Given the description of an element on the screen output the (x, y) to click on. 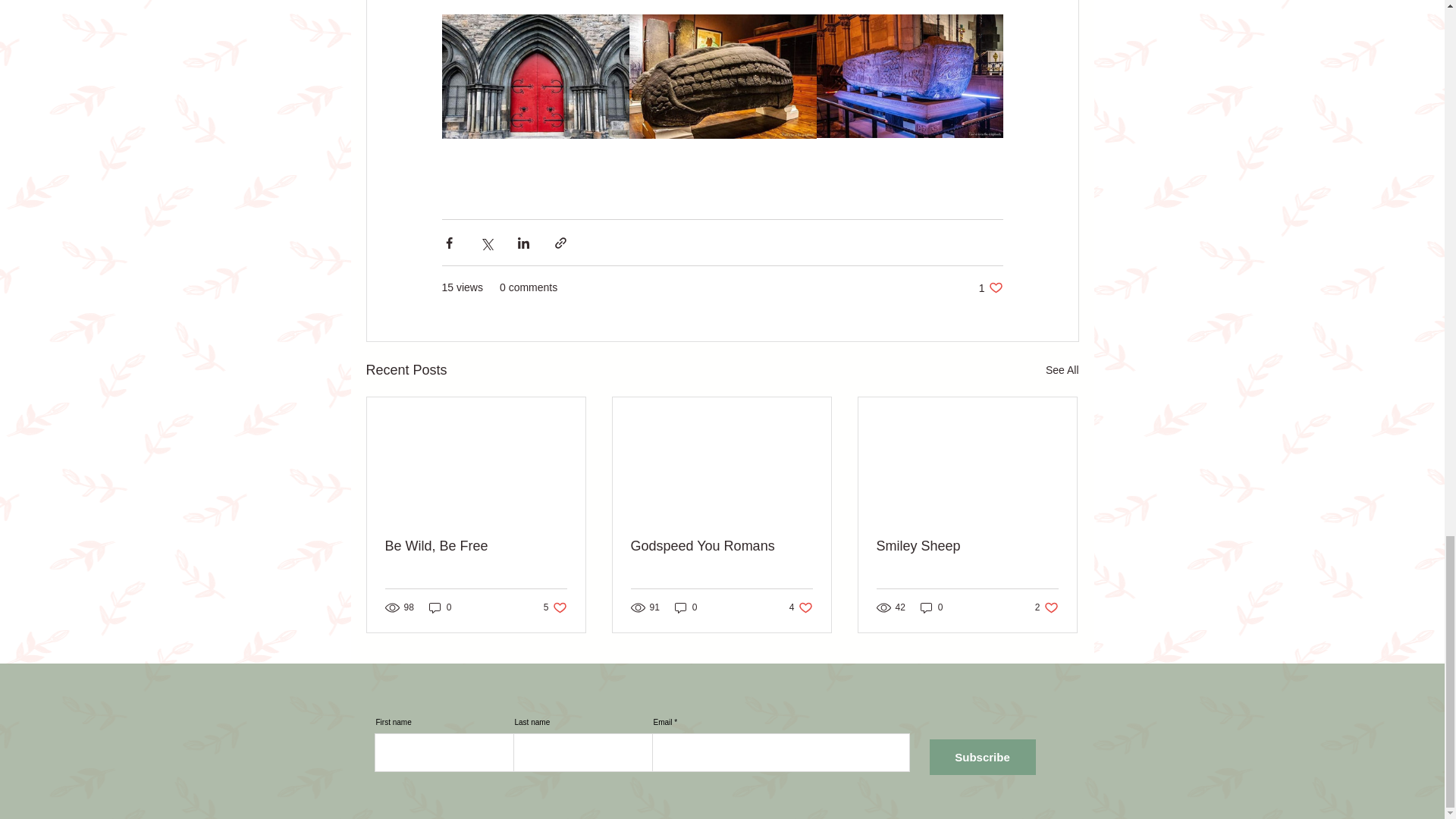
0 (800, 607)
0 (931, 607)
See All (440, 607)
Be Wild, Be Free (1061, 370)
Godspeed You Romans (476, 546)
0 (1046, 607)
Smiley Sheep (721, 546)
